Given the description of an element on the screen output the (x, y) to click on. 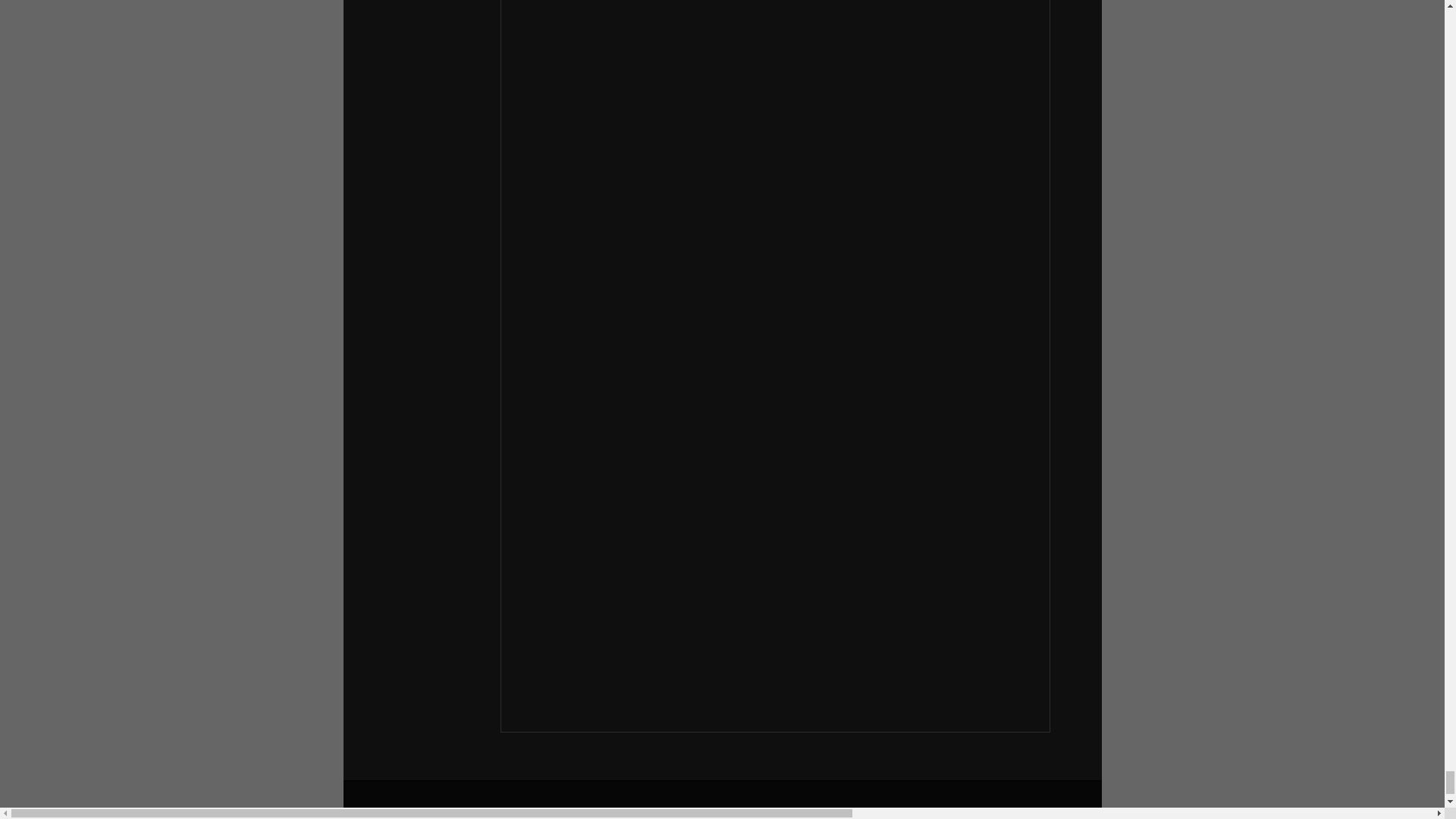
Semantic Personal Publishing Platform (721, 810)
